Given the description of an element on the screen output the (x, y) to click on. 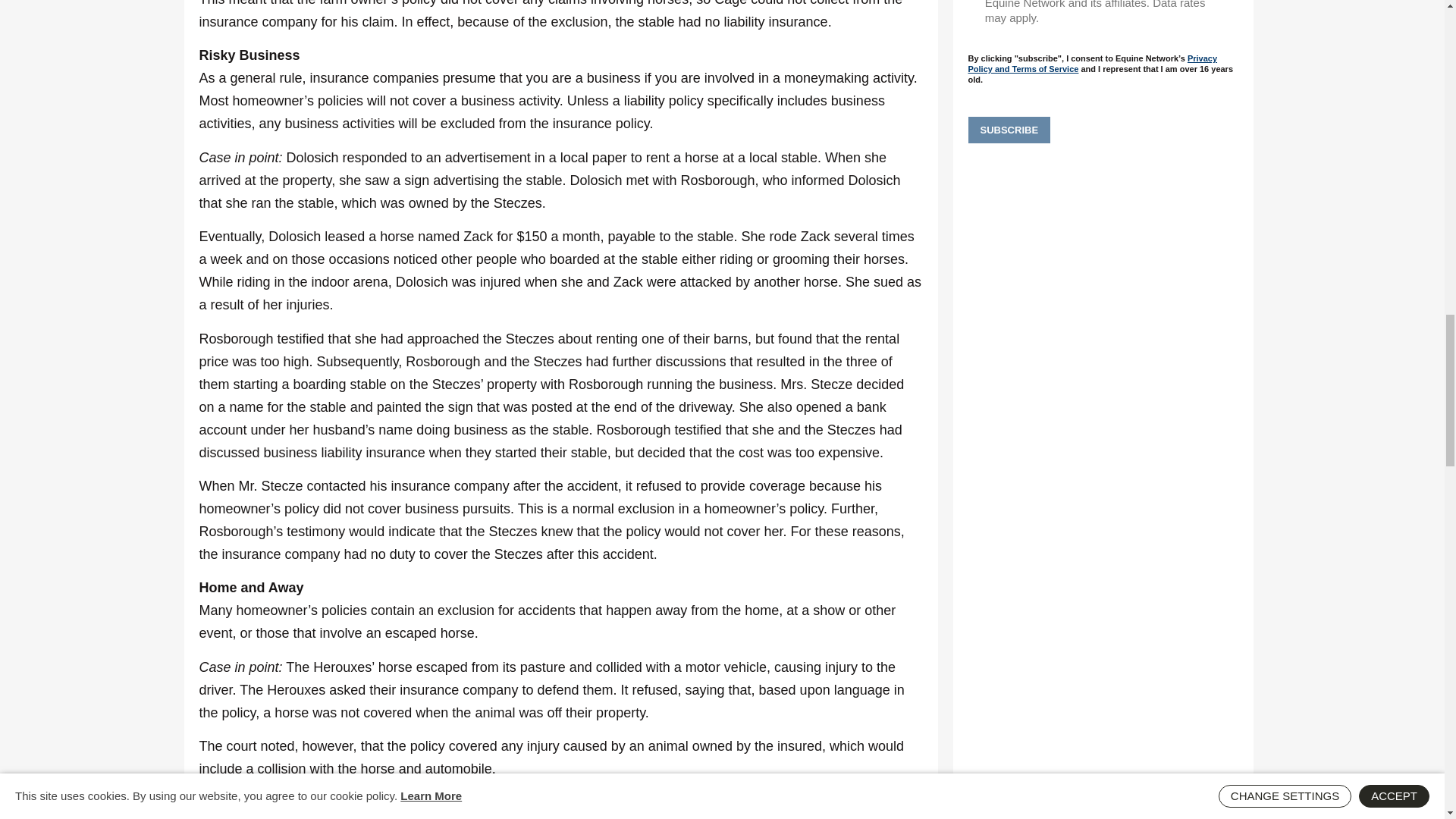
Subscribe (1008, 130)
